Given the description of an element on the screen output the (x, y) to click on. 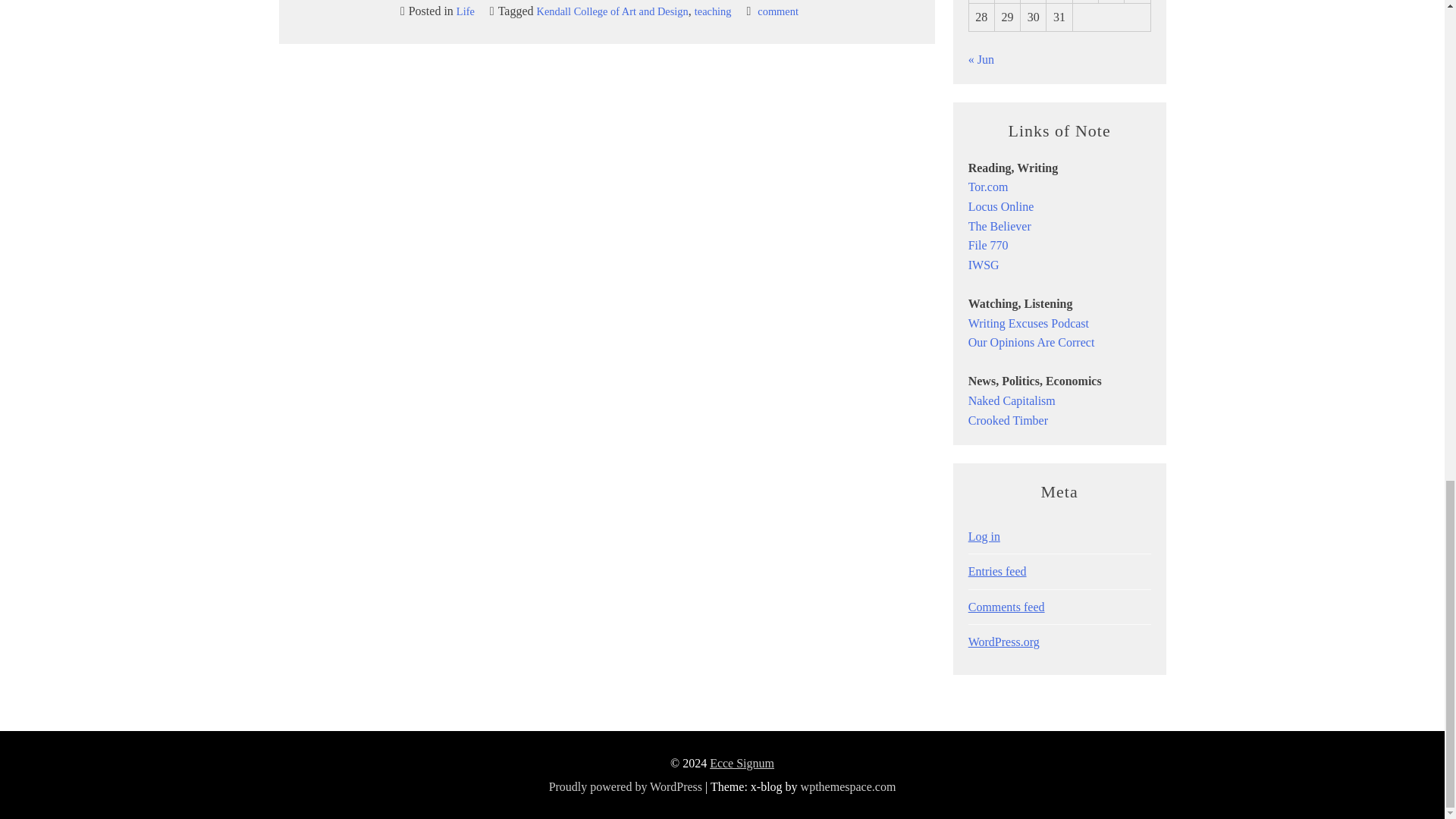
The Believer (999, 226)
File 770 (777, 10)
teaching (988, 245)
Life (713, 10)
Kendall College of Art and Design (465, 10)
Tor.com (612, 10)
Locus Online (988, 186)
